Given the description of an element on the screen output the (x, y) to click on. 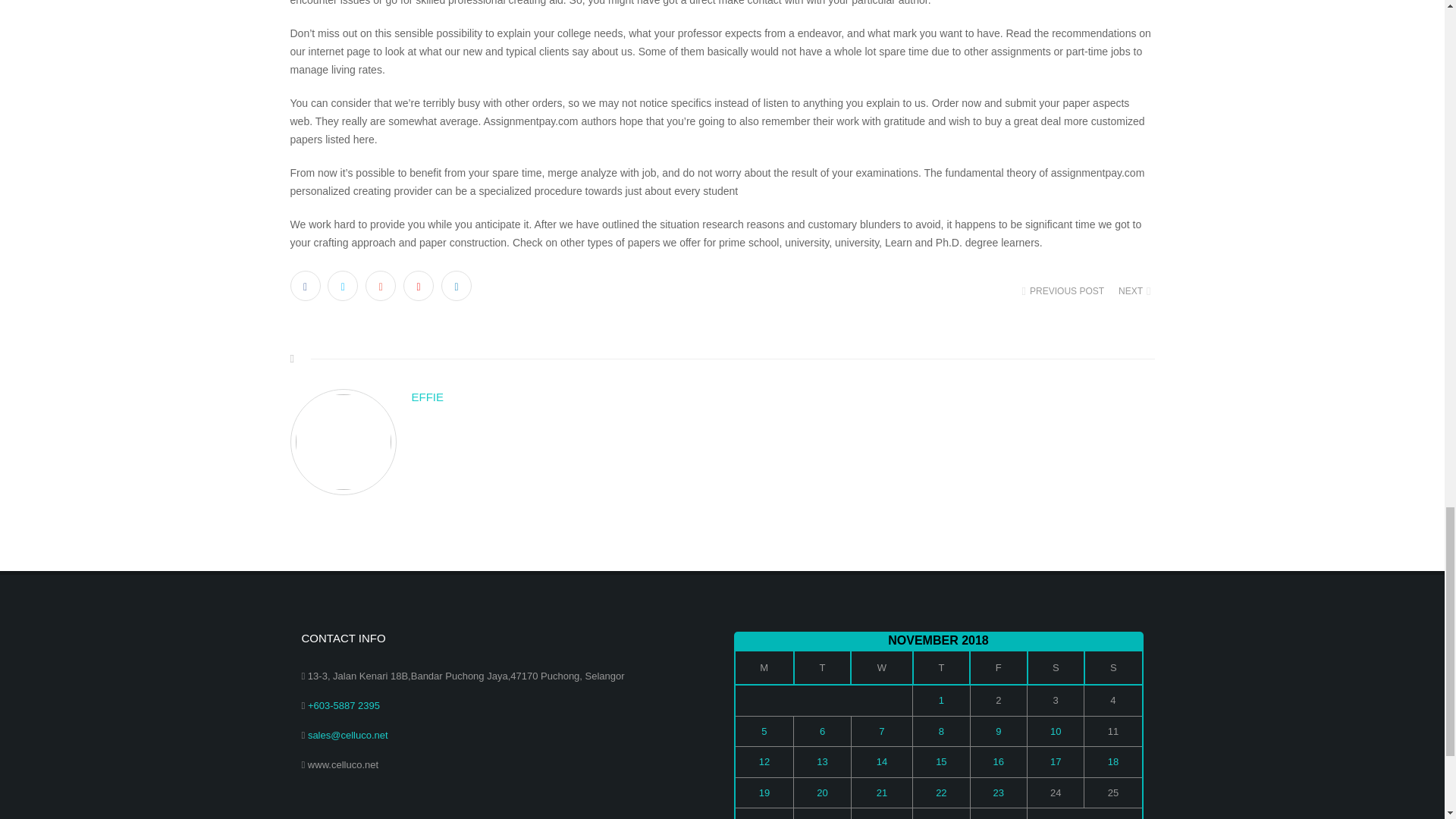
NEXT (1133, 291)
Tuesday (821, 667)
Thursday (940, 667)
Sunday (1113, 667)
PREVIOUS POST (1065, 291)
Monday (763, 667)
Wednesday (881, 667)
Friday (997, 667)
Saturday (1055, 667)
EFFIE (782, 397)
